Given the description of an element on the screen output the (x, y) to click on. 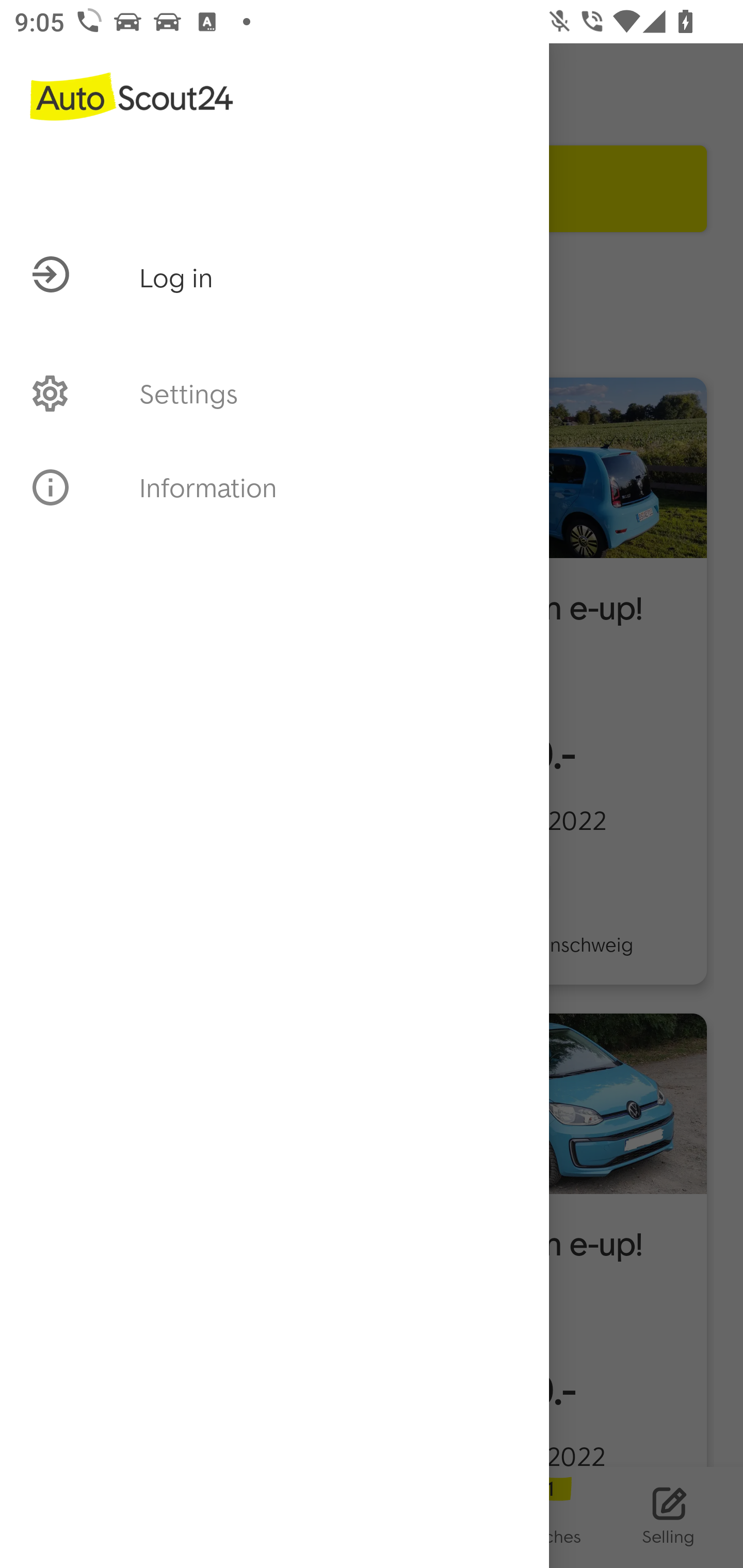
PROFILE Settings (274, 393)
INFO Information (274, 487)
SAVED_SEARCHES Saved searches 1 (519, 1517)
STOCK_LIST Selling (668, 1517)
